Given the description of an element on the screen output the (x, y) to click on. 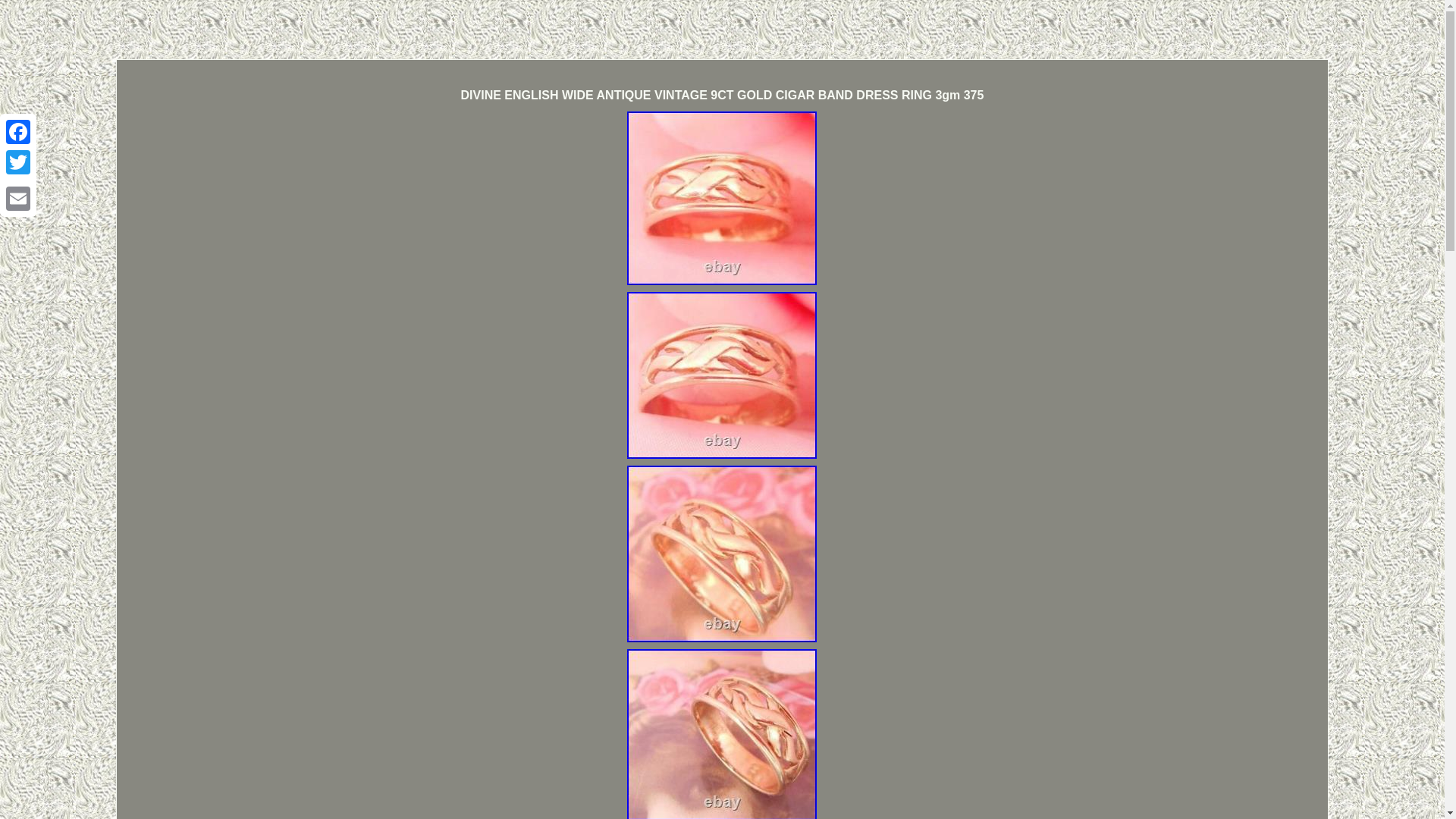
Facebook (17, 132)
Email (17, 198)
Twitter (17, 162)
